Given the description of an element on the screen output the (x, y) to click on. 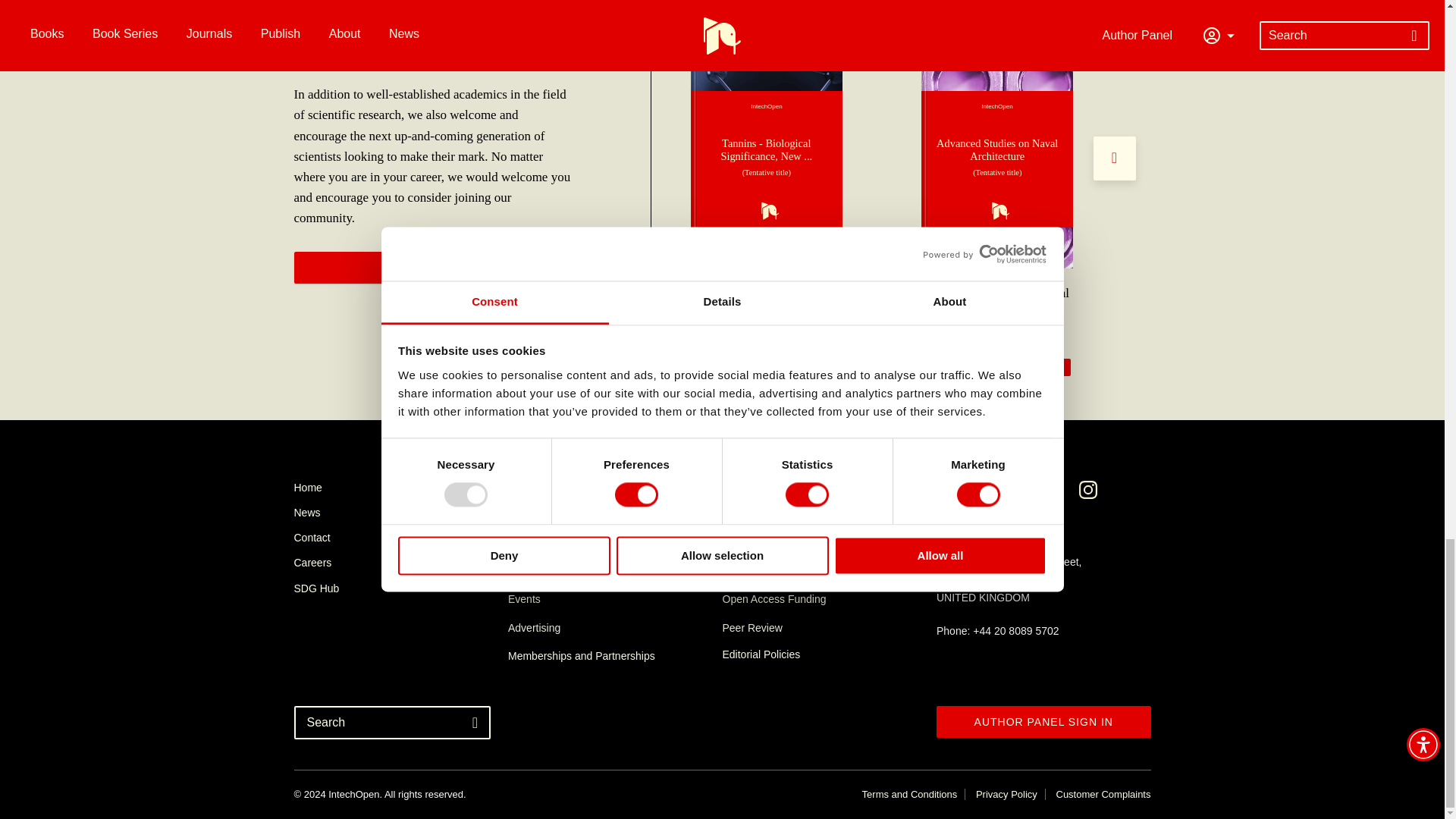
IntechOpen (766, 158)
IntechOpen (997, 158)
